Given the description of an element on the screen output the (x, y) to click on. 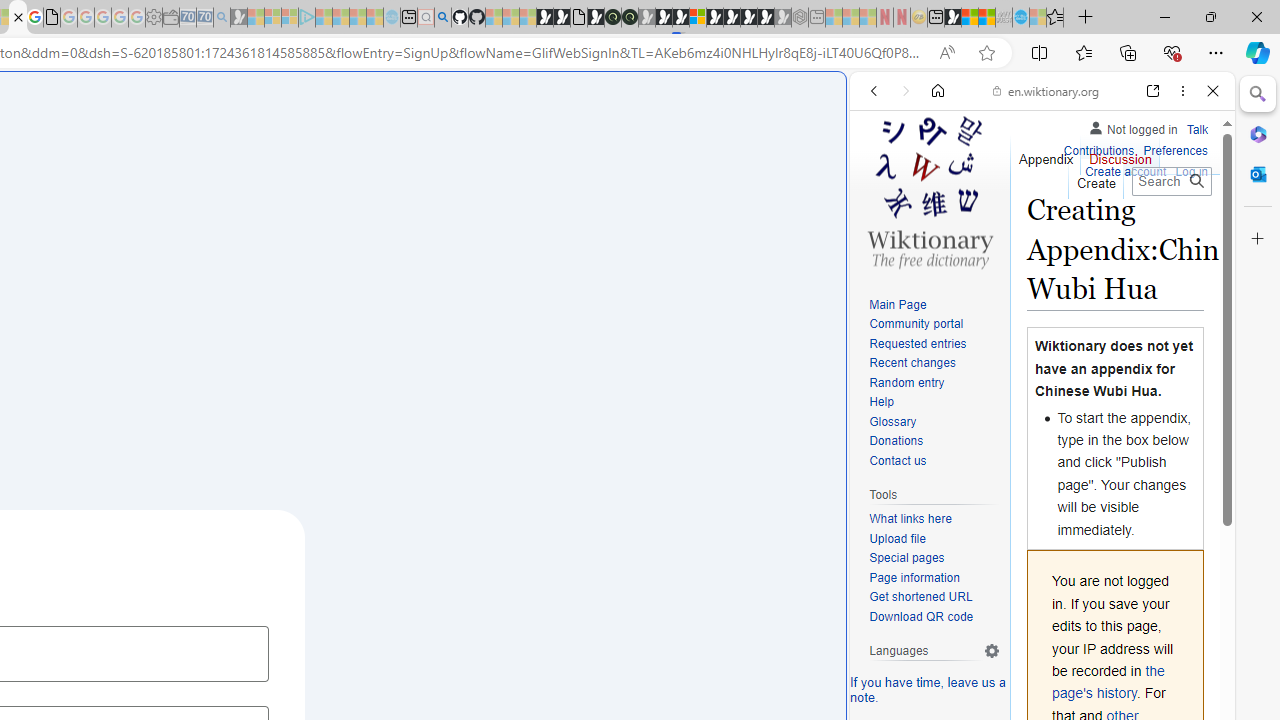
Wiktionary (1034, 669)
Get shortened URL (920, 596)
Page information (914, 577)
Requested entries (934, 344)
What links here (910, 519)
